Given the description of an element on the screen output the (x, y) to click on. 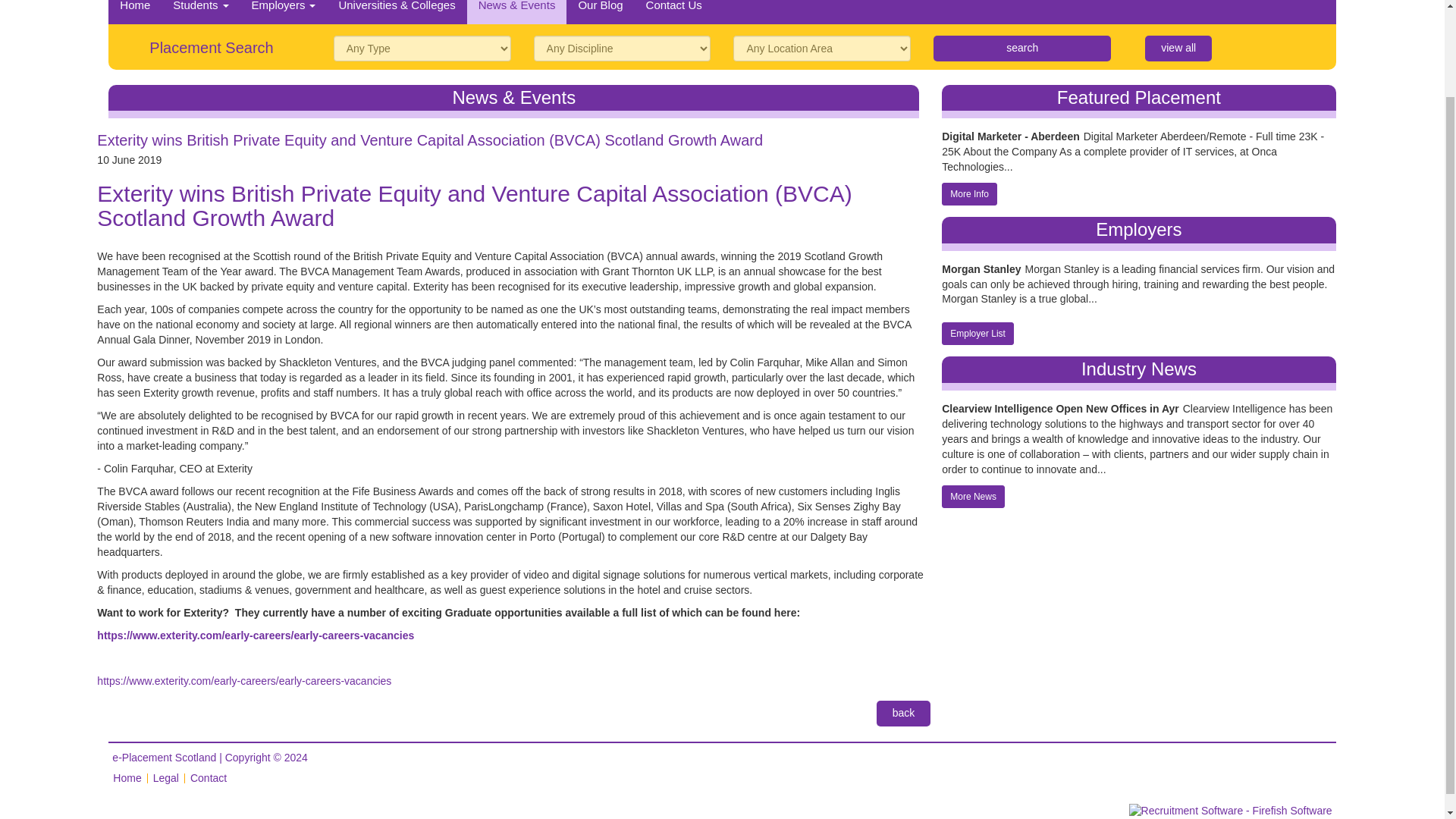
Students (200, 9)
Clearview Intelligence Open New Offices in Ayr (1060, 401)
Search (1021, 42)
Our Blog (599, 9)
Search (1021, 42)
See all (1177, 42)
Legal (165, 771)
Employers (283, 9)
Recruitment Software - Firefish Software (1281, 806)
Home (127, 771)
More News (973, 489)
Employer List (977, 327)
More Info (969, 187)
view all (1177, 42)
Digital Marketer - Aberdeen (1011, 130)
